Given the description of an element on the screen output the (x, y) to click on. 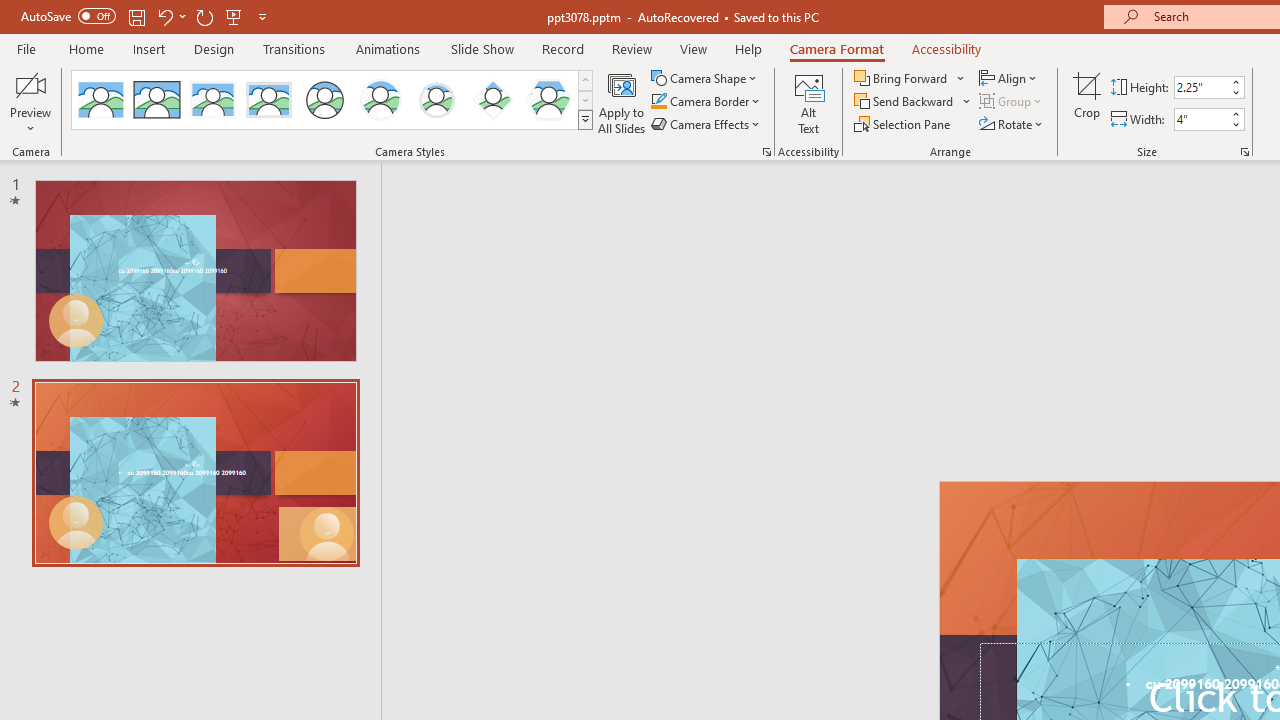
Camera Shape (705, 78)
Camera Styles (585, 120)
Soft Edge Circle (436, 100)
AutomationID: CameoStylesGallery (333, 99)
Cameo Height (1201, 87)
Selection Pane... (904, 124)
